Given the description of an element on the screen output the (x, y) to click on. 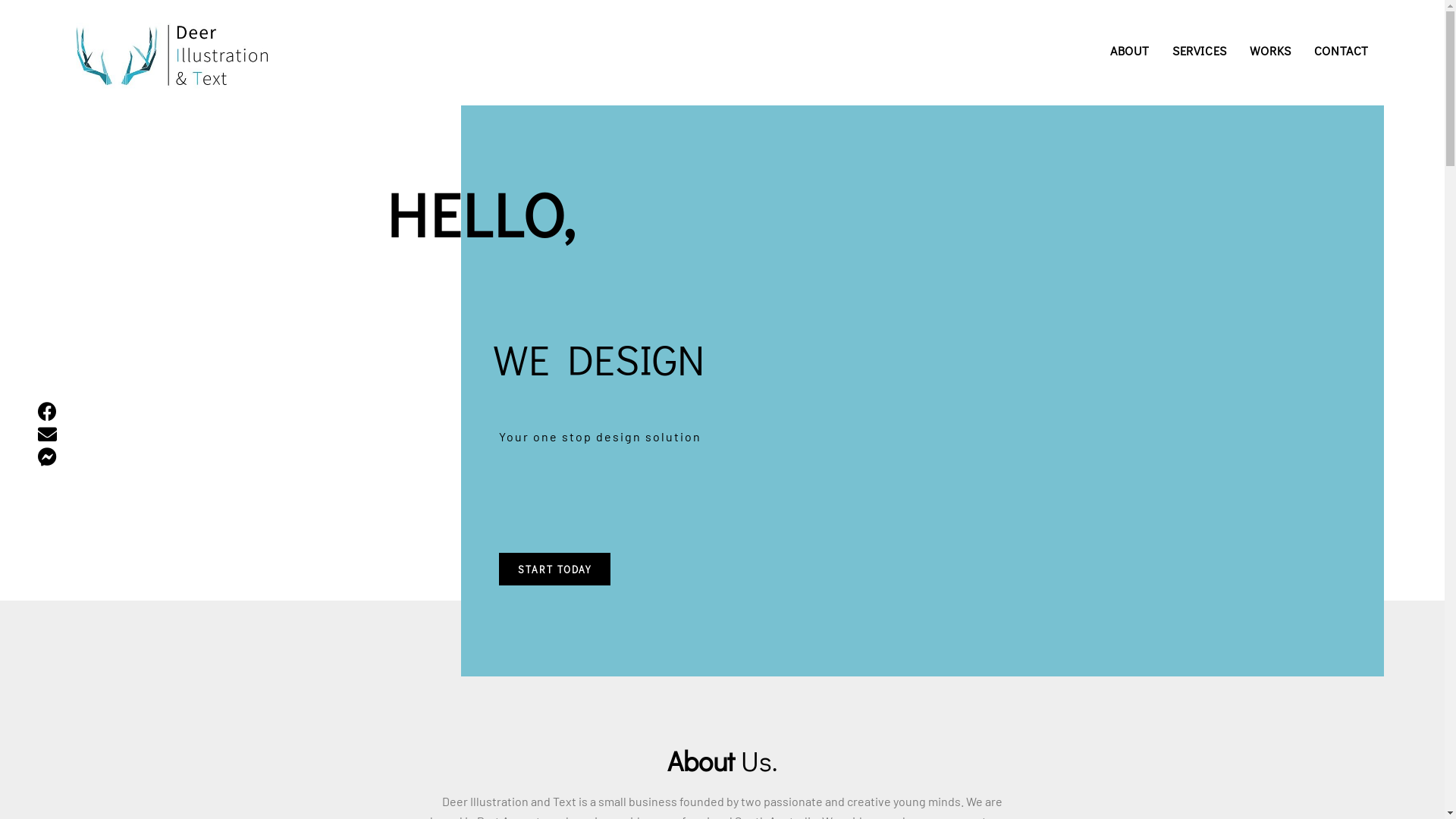
CONTACT Element type: text (1341, 50)
ABOUT Element type: text (1129, 50)
SERVICES Element type: text (1199, 50)
WORKS Element type: text (1270, 50)
START TODAY Element type: text (554, 568)
